Given the description of an element on the screen output the (x, y) to click on. 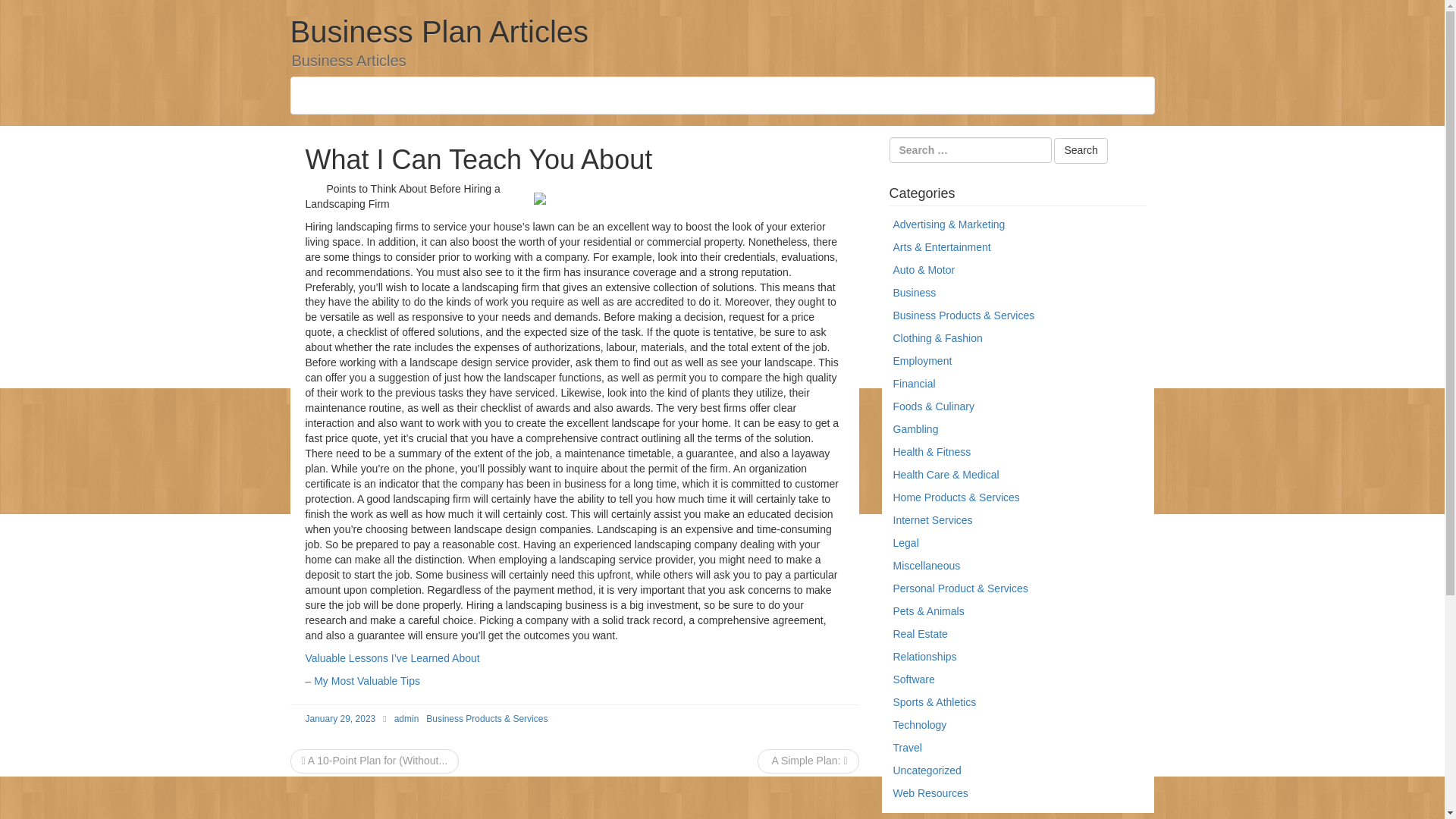
 A Simple Plan:  (807, 760)
Search (1080, 150)
Relationships (924, 656)
Internet Services (932, 520)
Business Plan Articles (438, 31)
January 29, 2023 (339, 718)
admin (406, 718)
Search (1080, 150)
Legal (905, 542)
Travel (907, 747)
